Given the description of an element on the screen output the (x, y) to click on. 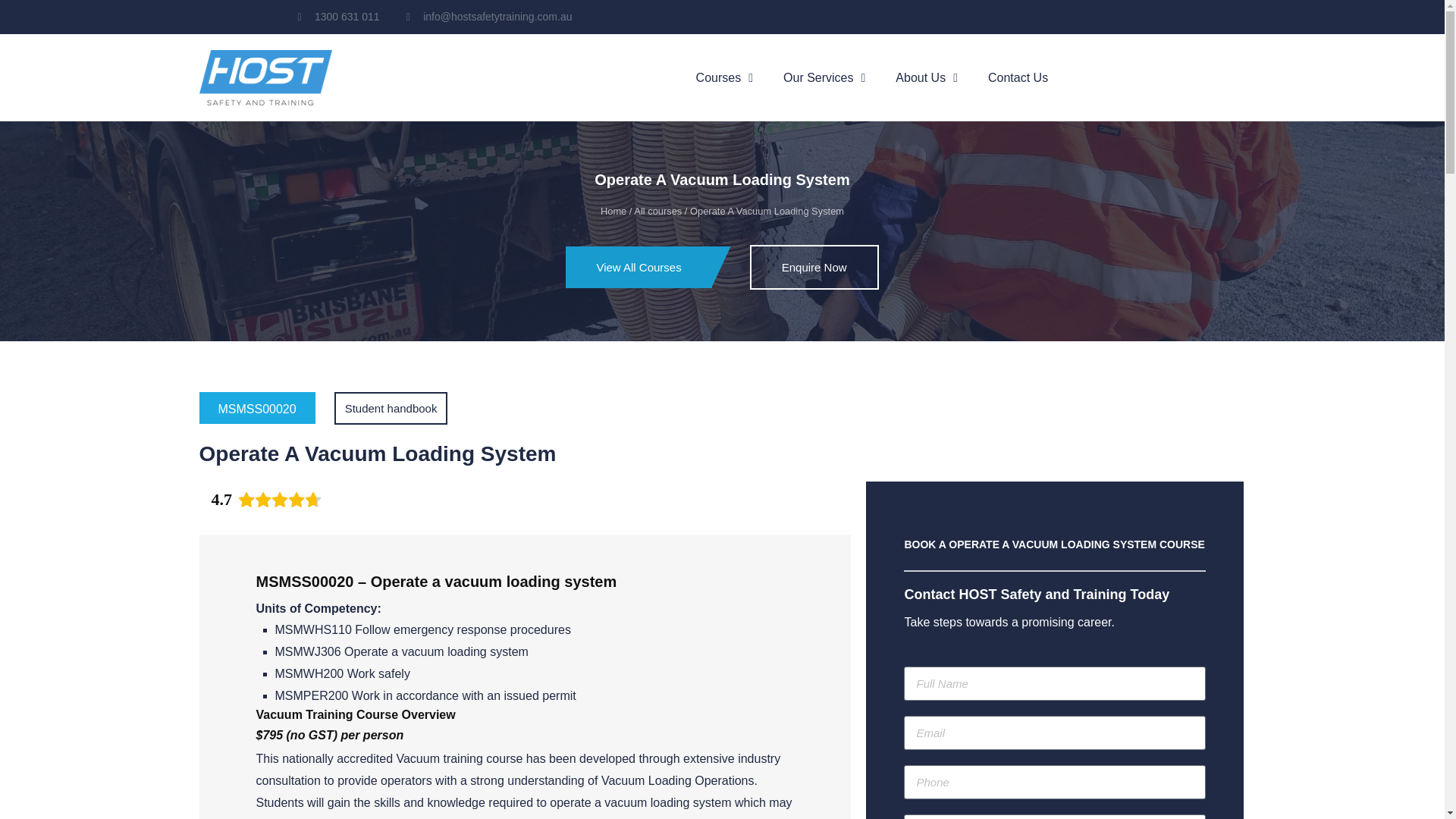
About Us (926, 77)
Our Services (824, 77)
Courses (724, 77)
1300 631 011 (337, 16)
Contact Us (1017, 77)
